Given the description of an element on the screen output the (x, y) to click on. 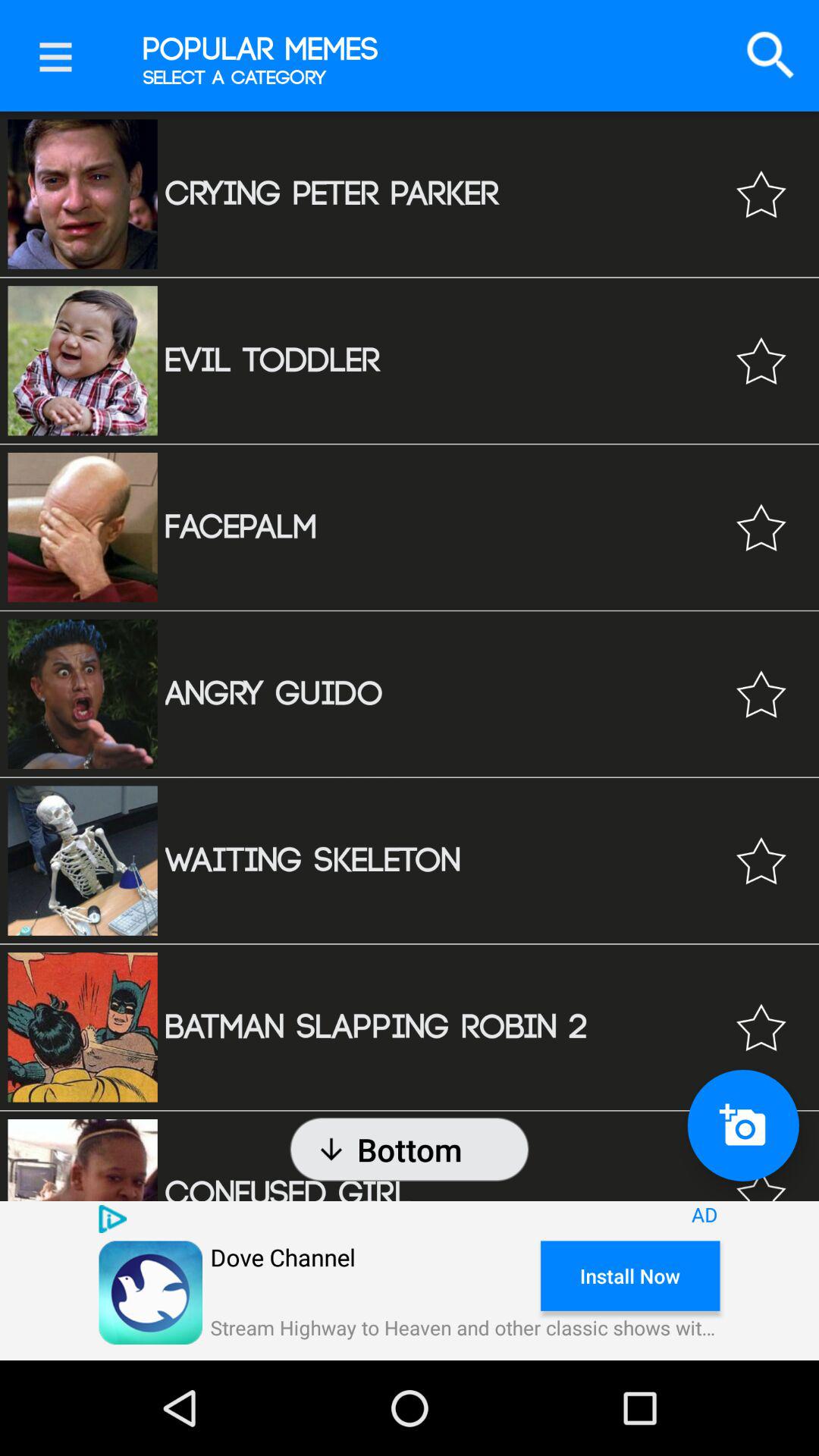
mark as favorite option (761, 527)
